Given the description of an element on the screen output the (x, y) to click on. 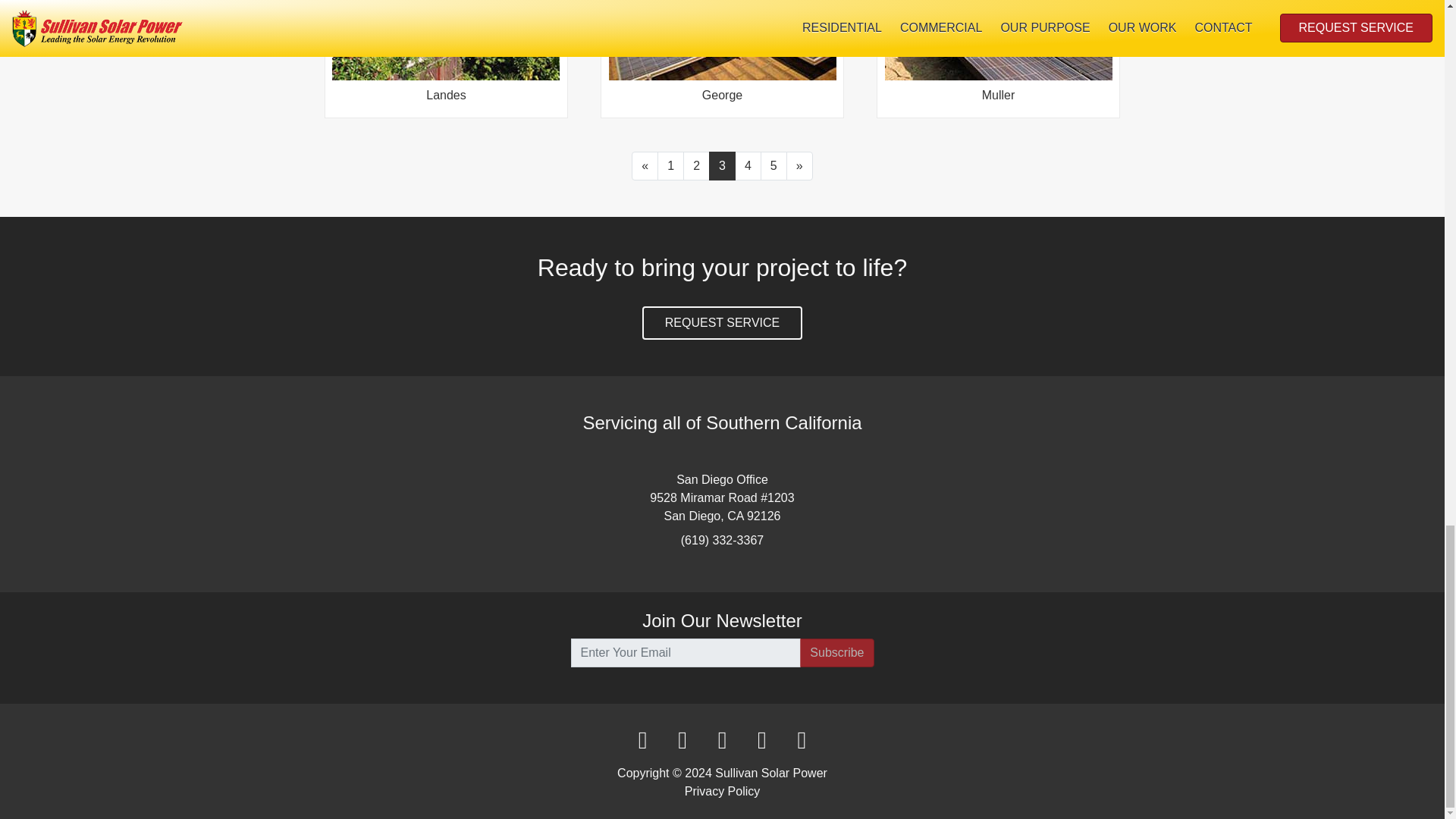
Landes (445, 55)
George (721, 55)
Muller (998, 55)
